Given the description of an element on the screen output the (x, y) to click on. 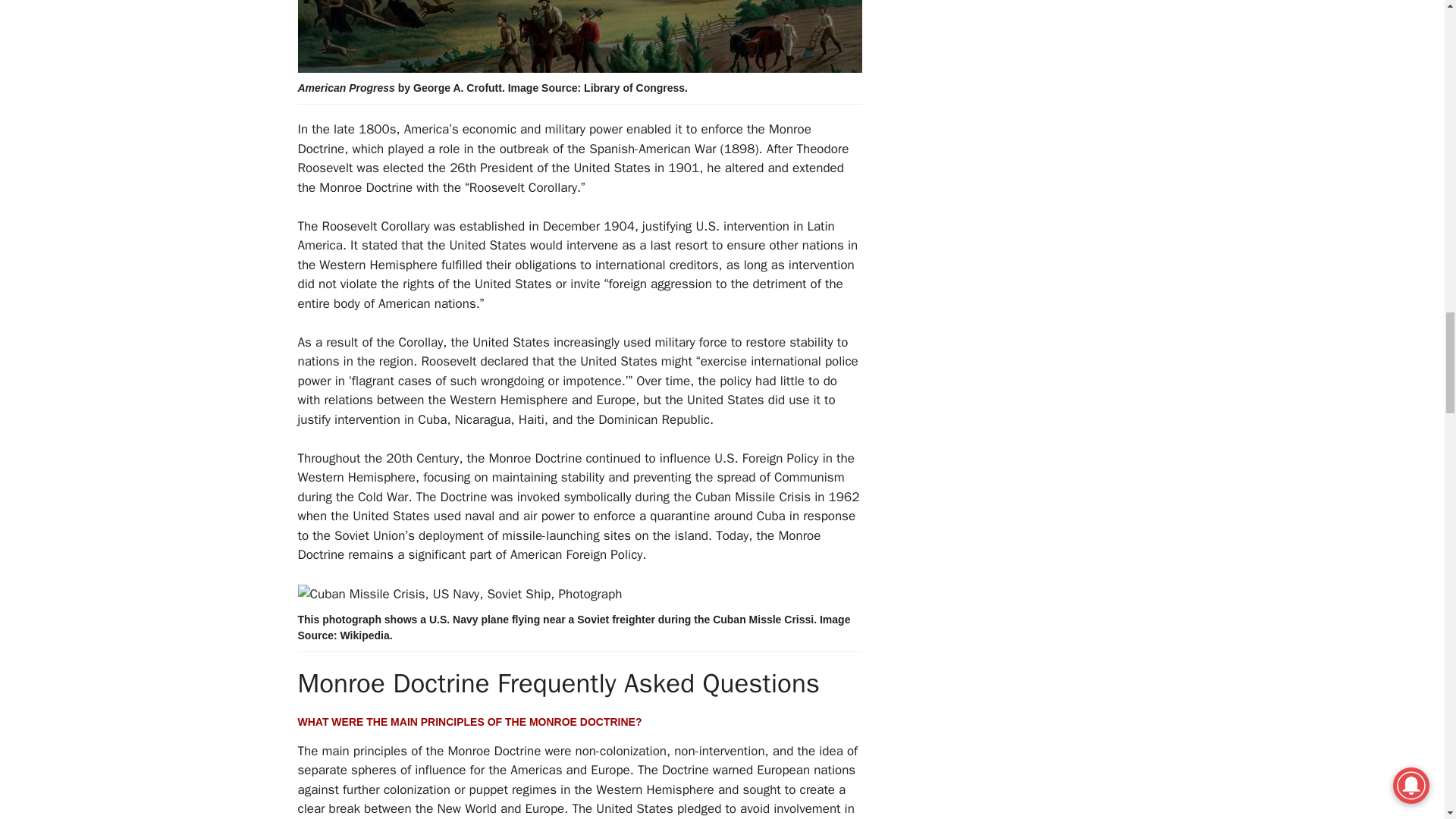
Cuban Missile Crisis, US Navy, Soviet Ship, Photograph (459, 594)
Manifest Destiny, American Progress, Painting, Crofutt (579, 36)
